Given the description of an element on the screen output the (x, y) to click on. 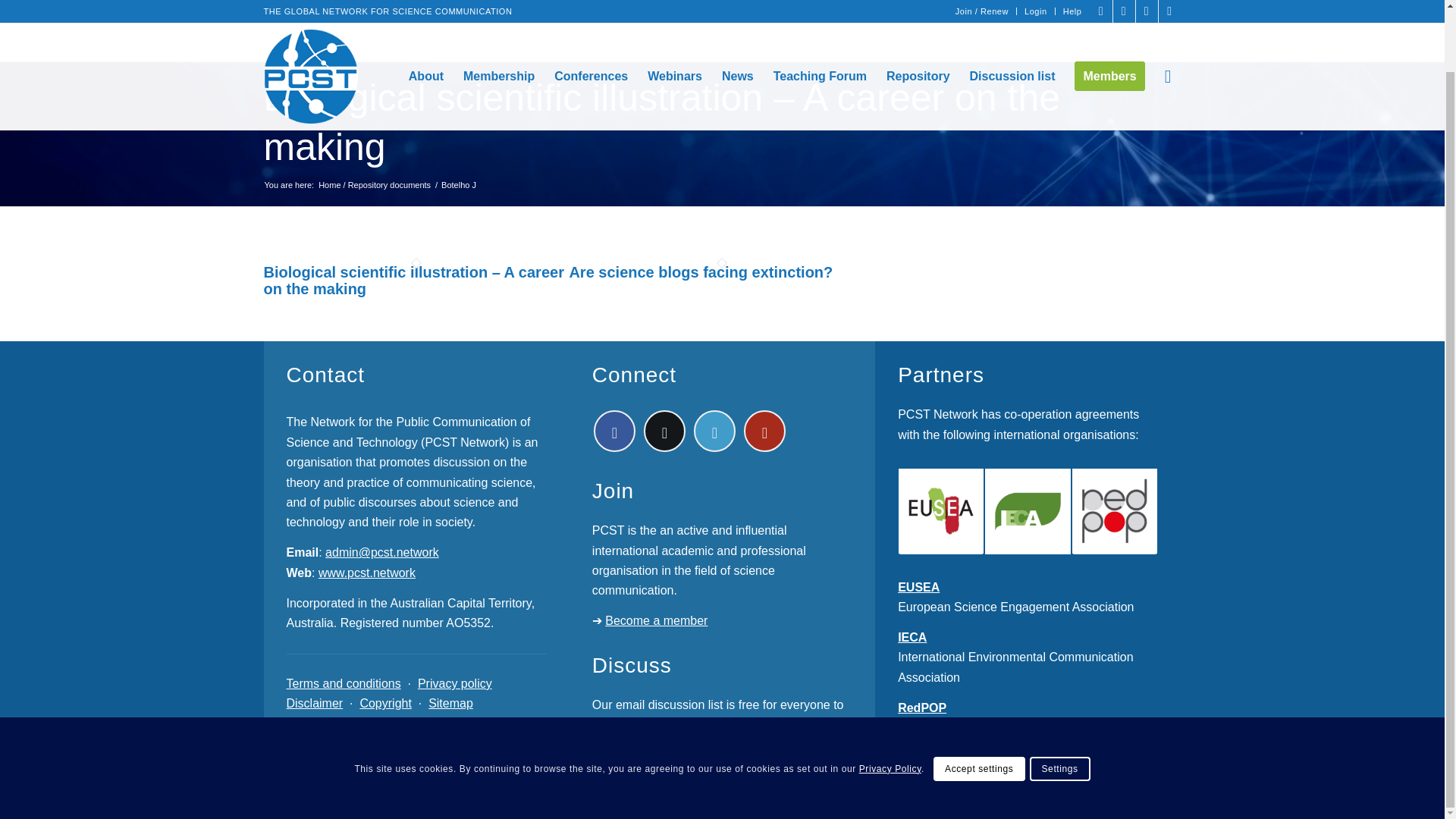
Repository (917, 31)
Teaching Forum (819, 31)
PCST Network (373, 177)
Conferences (590, 31)
Webinars (674, 31)
Are science blogs facing extinction? (700, 271)
Membership (498, 31)
